Given the description of an element on the screen output the (x, y) to click on. 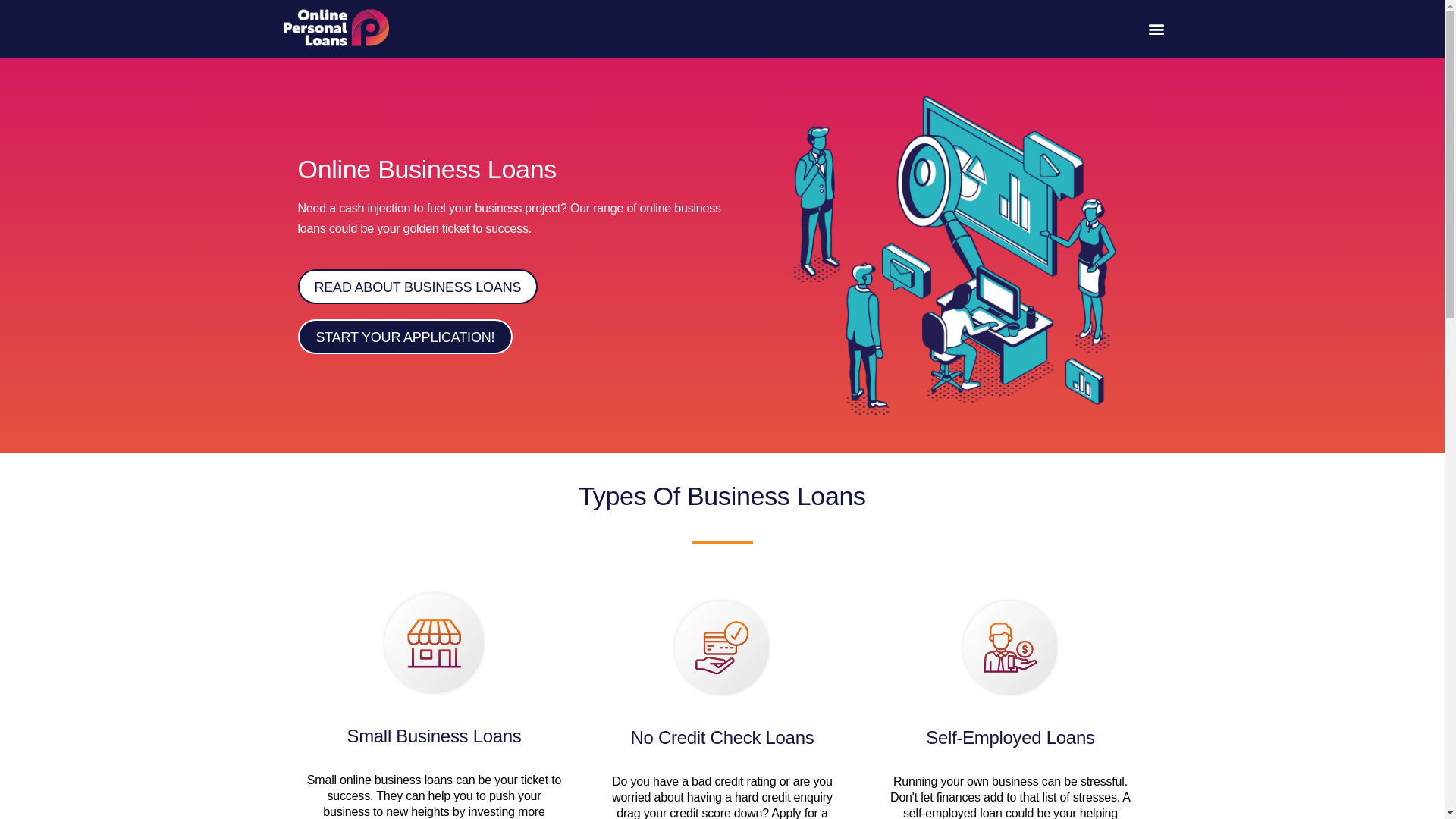
START YOUR APPLICATION! Element type: text (404, 336)
online-personal-loans-logox2.png Element type: hover (335, 28)
No Credit Check Loans Element type: text (722, 737)
READ ABOUT BUSINESS LOANS Element type: text (417, 286)
